Given the description of an element on the screen output the (x, y) to click on. 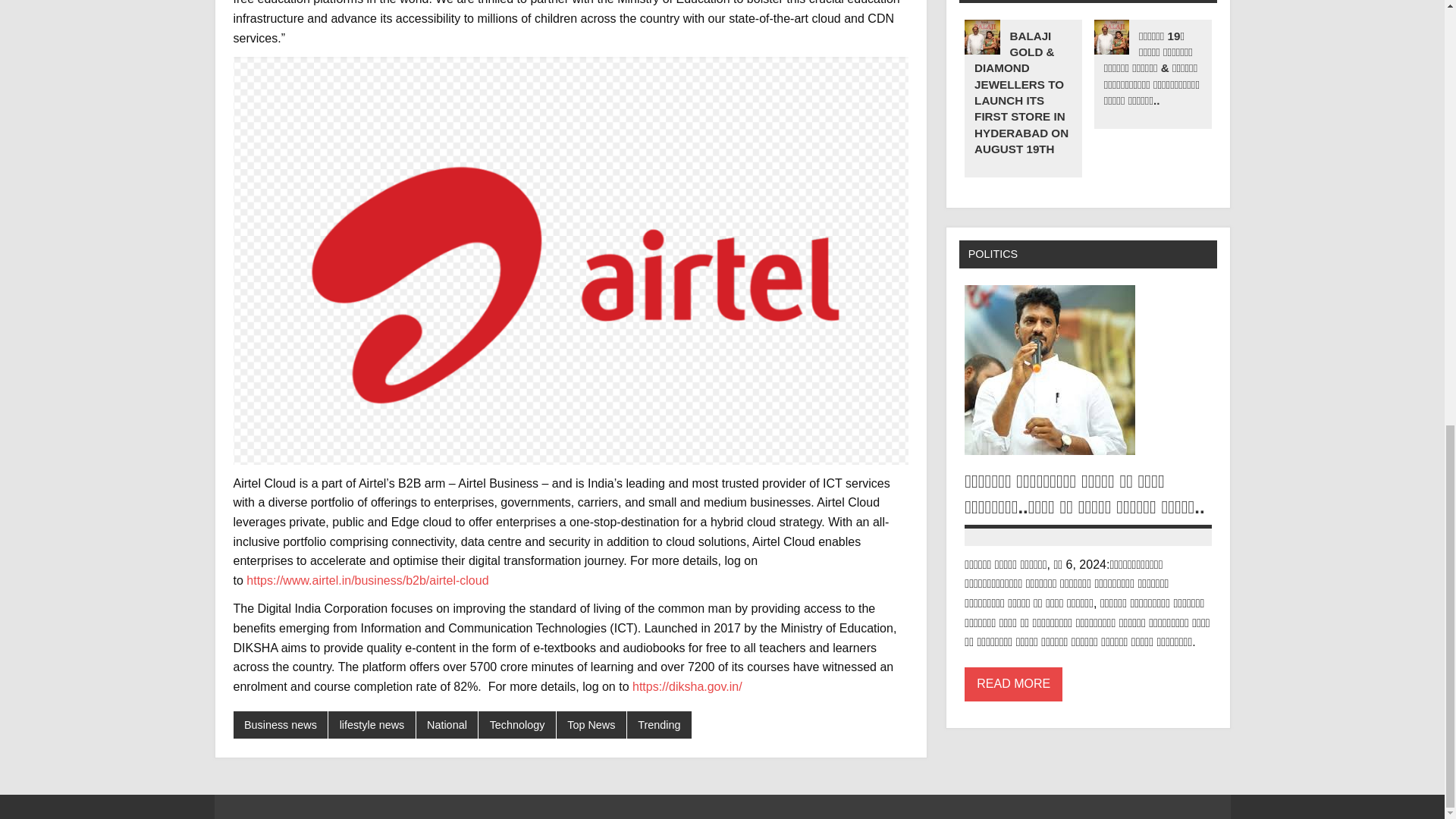
Trending (659, 724)
Technology (517, 724)
National (447, 724)
Business news (280, 724)
Top News (591, 724)
lifestyle news (371, 724)
